Given the description of an element on the screen output the (x, y) to click on. 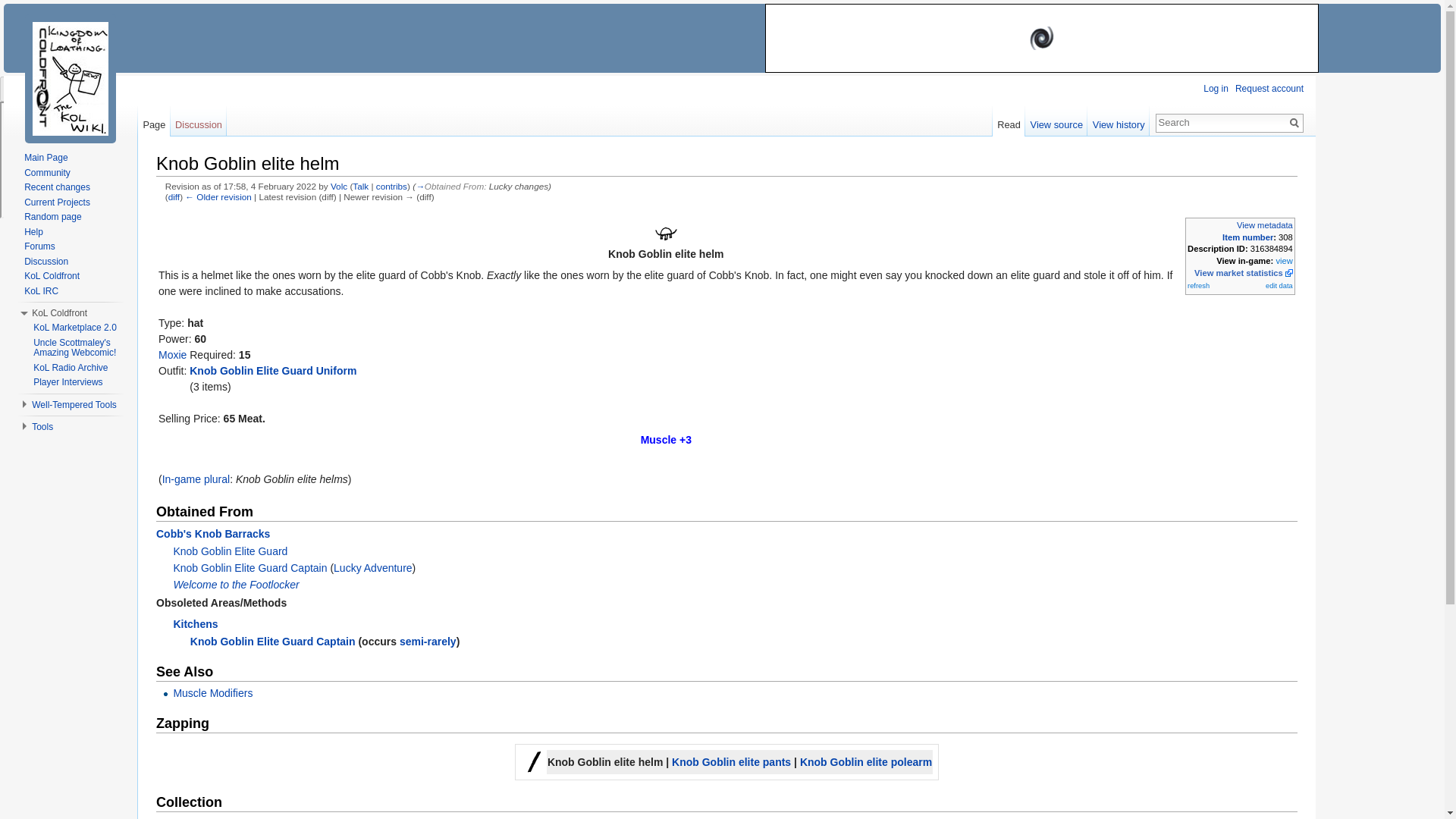
Volc (338, 185)
Knob Goblin elite helm (217, 196)
Request account (1268, 88)
Knob Goblin elite helm (173, 196)
Knob Goblin Elite Guard Uniform (272, 370)
Go (1294, 122)
Welcome to the Footlocker (235, 584)
view (1283, 260)
View metadata (1264, 225)
Knob Goblin elite helm (665, 233)
